Given the description of an element on the screen output the (x, y) to click on. 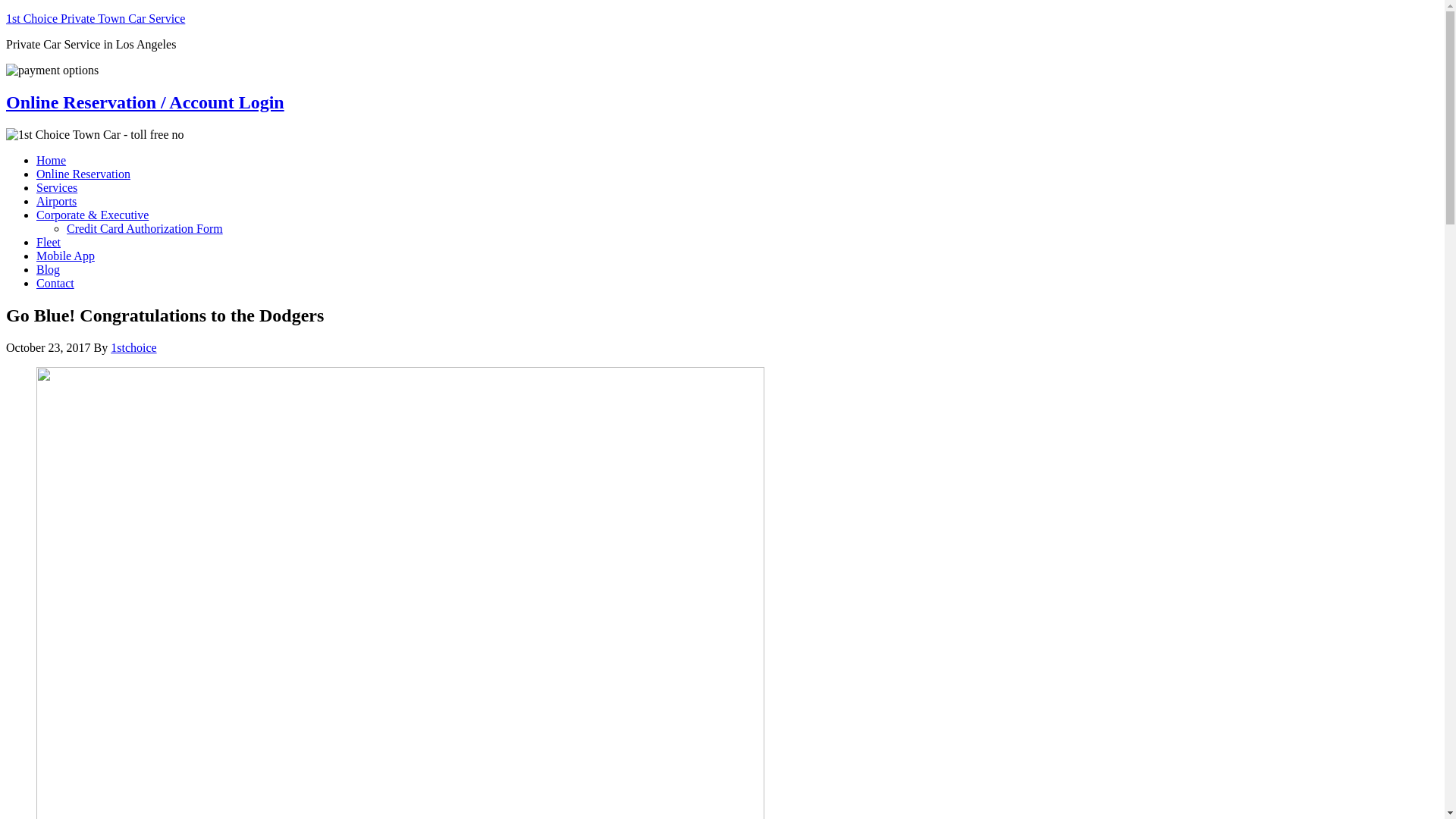
Contact Element type: text (55, 282)
Home Element type: text (50, 159)
Online Reservation / Account Login Element type: text (145, 102)
Services Element type: text (56, 187)
1st Choice Town Car - toll free no Element type: hover (95, 134)
Online Reservation Element type: text (83, 173)
Fleet Element type: text (48, 241)
Airports Element type: text (56, 200)
1st Choice Private Town Car Service Element type: text (95, 18)
1stchoice Element type: text (133, 347)
Blog Element type: text (47, 269)
payment options Element type: hover (52, 70)
Mobile App Element type: text (65, 255)
Credit Card Authorization Form Element type: text (144, 228)
Corporate & Executive Element type: text (92, 214)
